Given the description of an element on the screen output the (x, y) to click on. 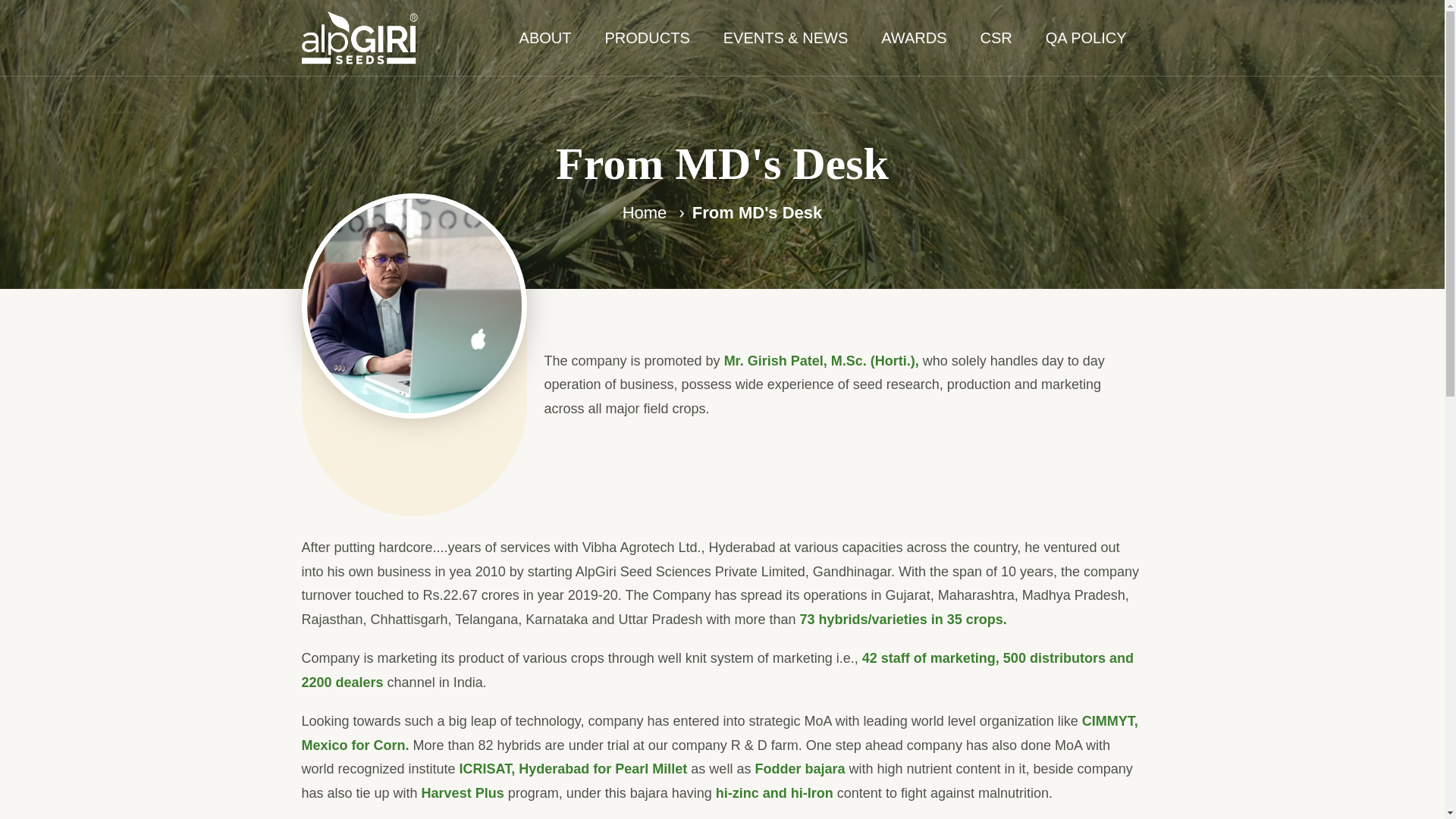
Home (644, 212)
From MD's Desk (757, 212)
QA POLICY (1085, 37)
CSR (996, 37)
PRODUCTS (647, 37)
AWARDS (913, 37)
ABOUT (545, 37)
